Given the description of an element on the screen output the (x, y) to click on. 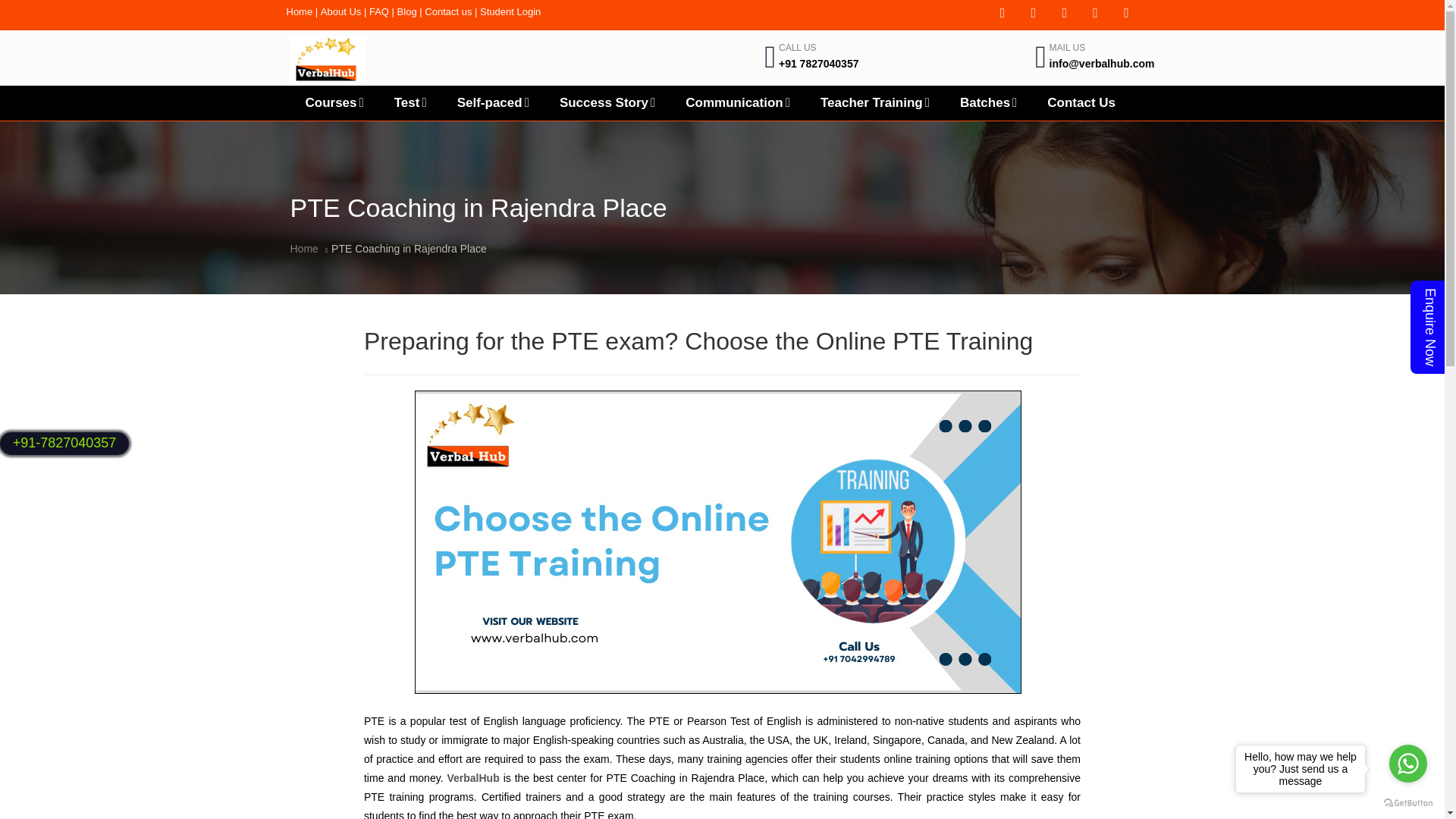
Test (410, 102)
Courses (333, 102)
Contact us (448, 11)
Home (299, 11)
About Us (340, 11)
CALL US (797, 47)
FAQ (378, 11)
Student Login (510, 11)
MAIL US (1067, 47)
Blog (406, 11)
